Given the description of an element on the screen output the (x, y) to click on. 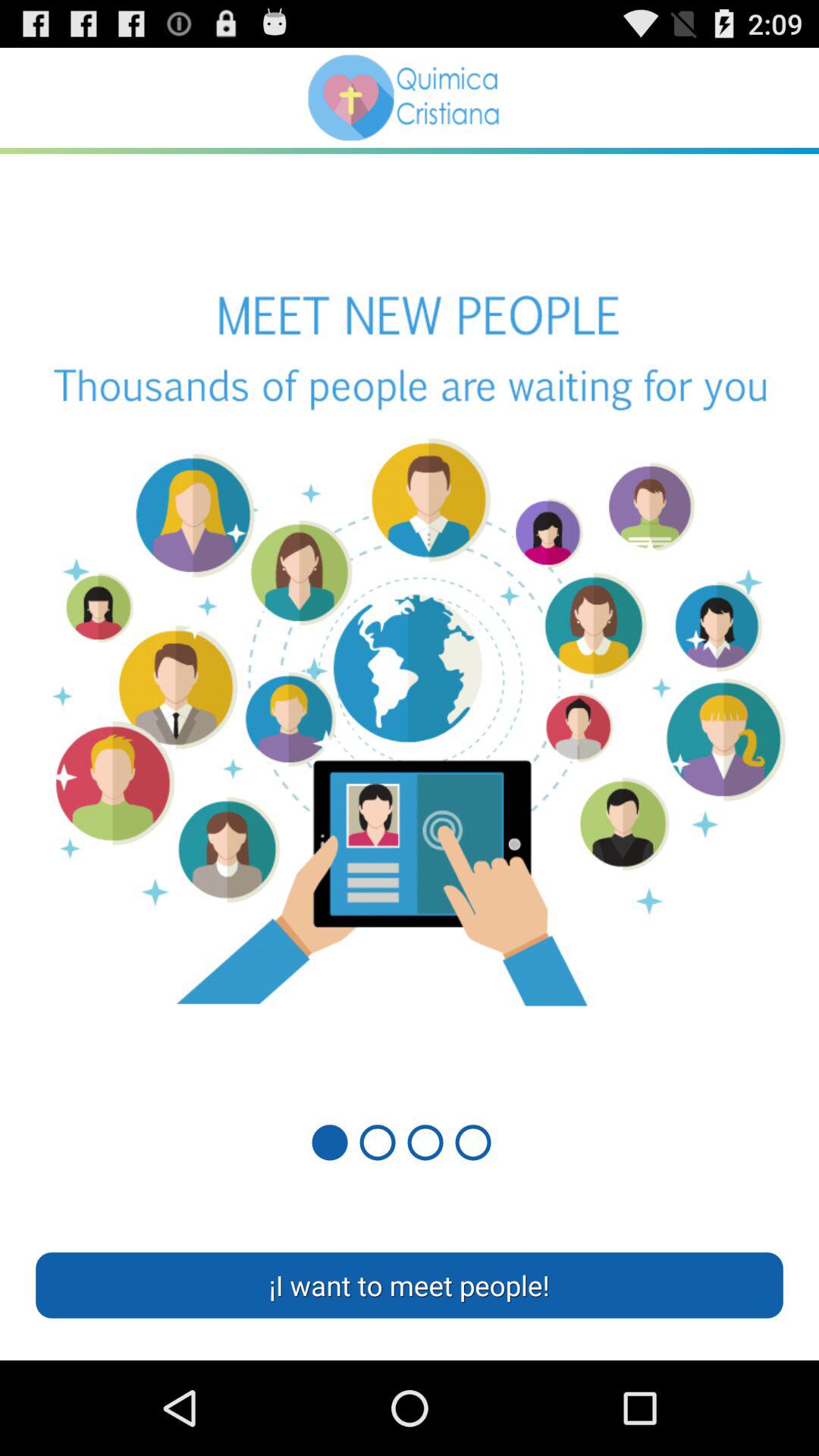
jump to the i want to item (409, 1285)
